Given the description of an element on the screen output the (x, y) to click on. 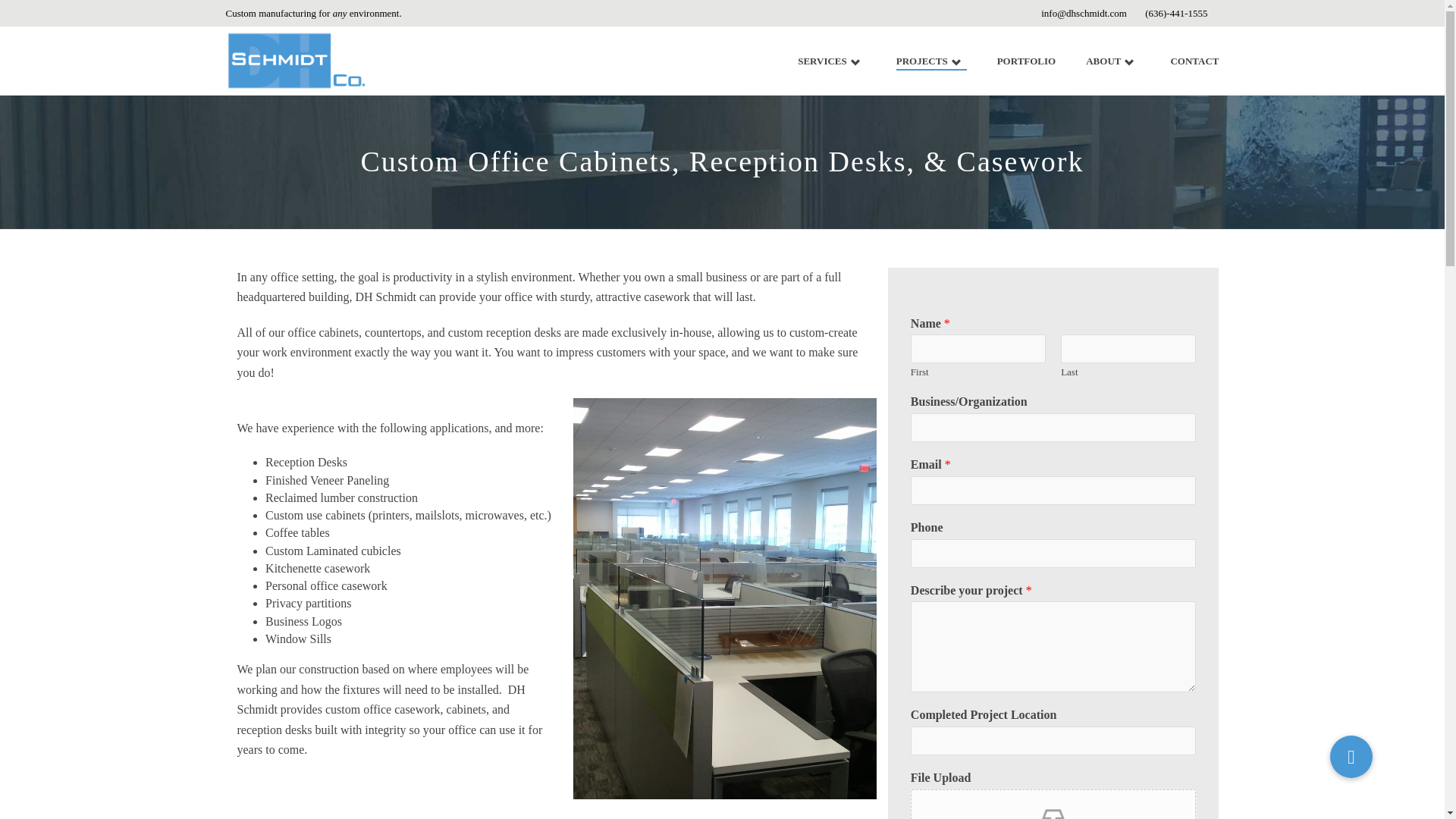
SERVICES (831, 61)
PROJECTS (930, 61)
ABOUT (1112, 61)
PORTFOLIO (1026, 61)
SERVICES (831, 61)
PORTFOLIO (1026, 61)
CONTACT (1193, 61)
PROJECTS (930, 61)
CONTACT (1193, 61)
ABOUT (1112, 61)
